Given the description of an element on the screen output the (x, y) to click on. 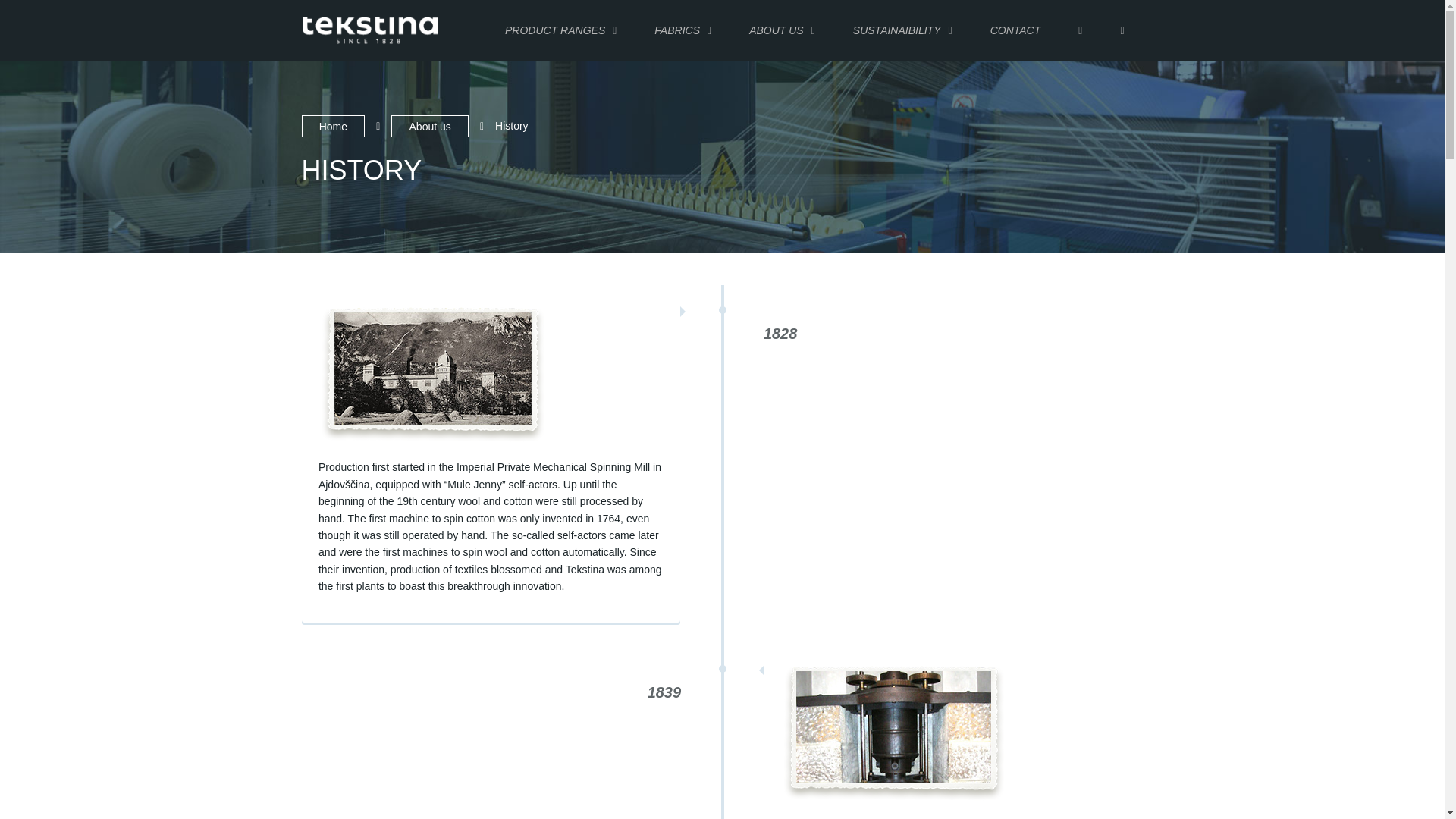
CONTACT (1015, 30)
ABOUT US (782, 30)
Home (333, 126)
PRODUCT RANGES (560, 30)
SUSTAINAIBILITY (902, 30)
About us (429, 126)
FABRICS (682, 30)
